Given the description of an element on the screen output the (x, y) to click on. 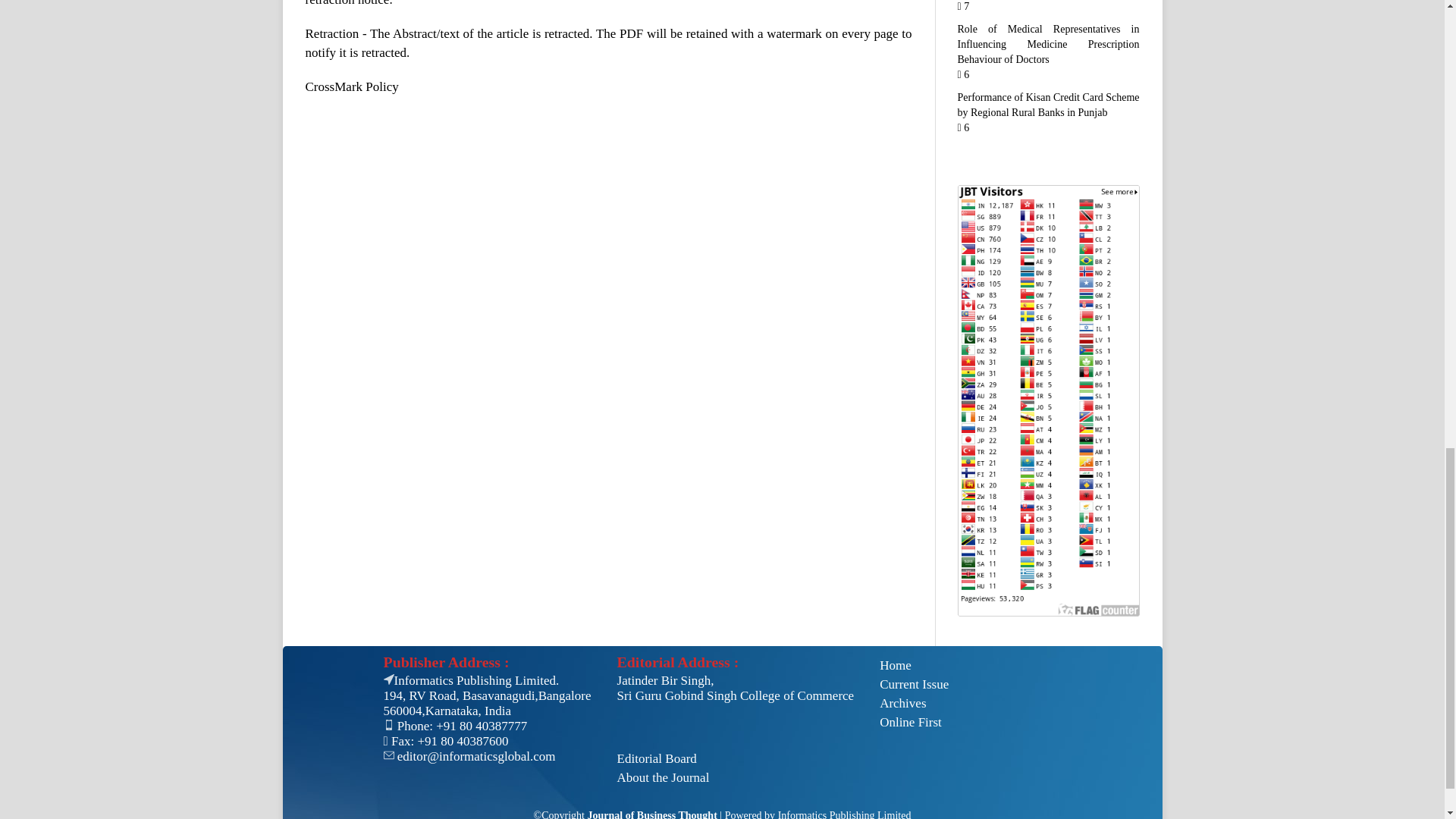
Home (914, 665)
CrossMark Policy (350, 86)
wd-phone-light (389, 724)
wd-cursor-light (389, 679)
wd-envelope-light (389, 755)
